Given the description of an element on the screen output the (x, y) to click on. 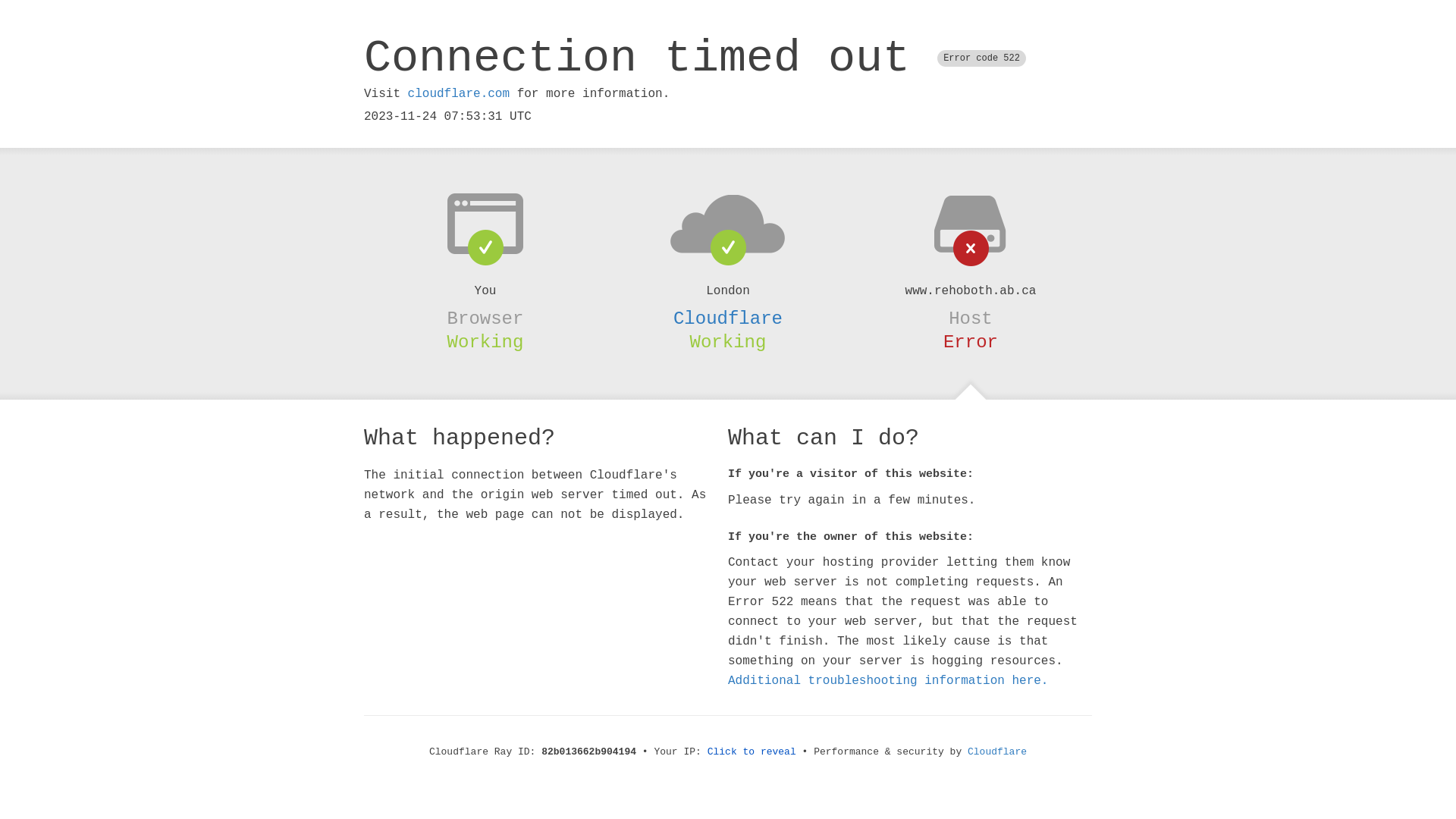
Cloudflare Element type: text (996, 751)
Click to reveal Element type: text (751, 751)
Cloudflare Element type: text (727, 318)
Additional troubleshooting information here. Element type: text (888, 680)
cloudflare.com Element type: text (458, 93)
